Given the description of an element on the screen output the (x, y) to click on. 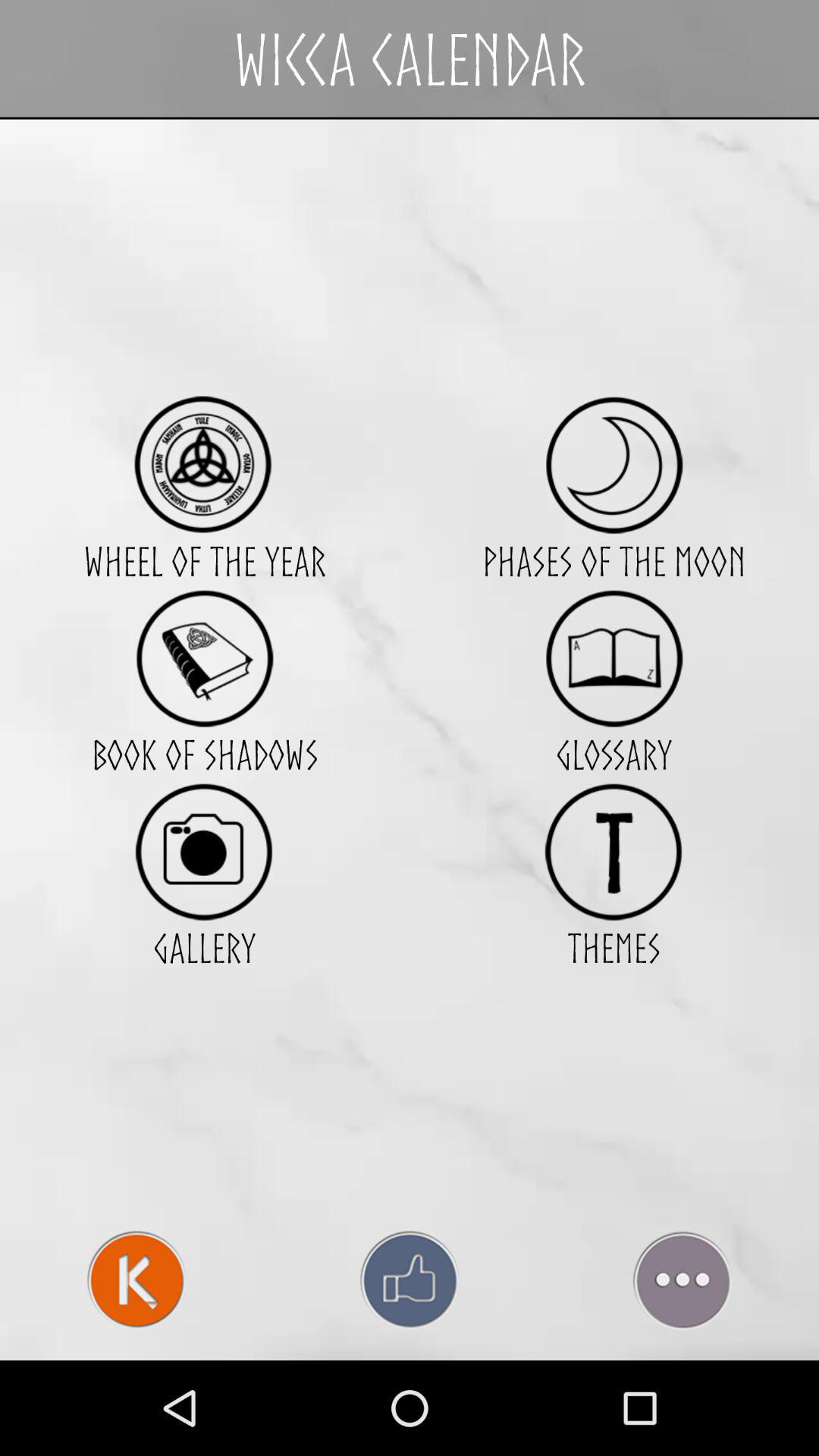
tap item above the wheel of the icon (204, 464)
